Given the description of an element on the screen output the (x, y) to click on. 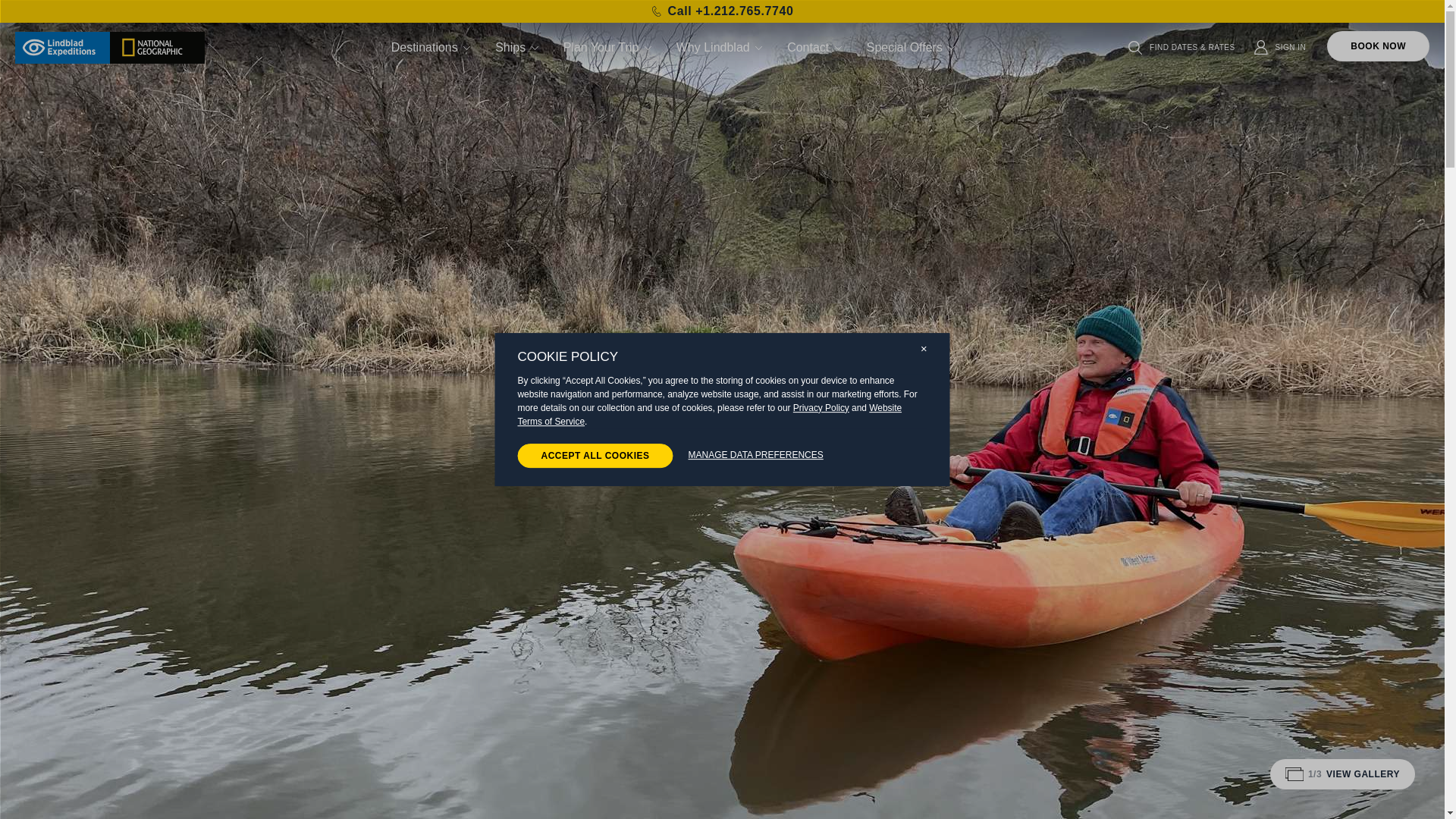
MANAGE DATA PREFERENCES (756, 455)
Privacy Policy (820, 407)
Destinations (432, 47)
Website Terms of Service (708, 414)
ACCEPT ALL COOKIES (594, 455)
